Given the description of an element on the screen output the (x, y) to click on. 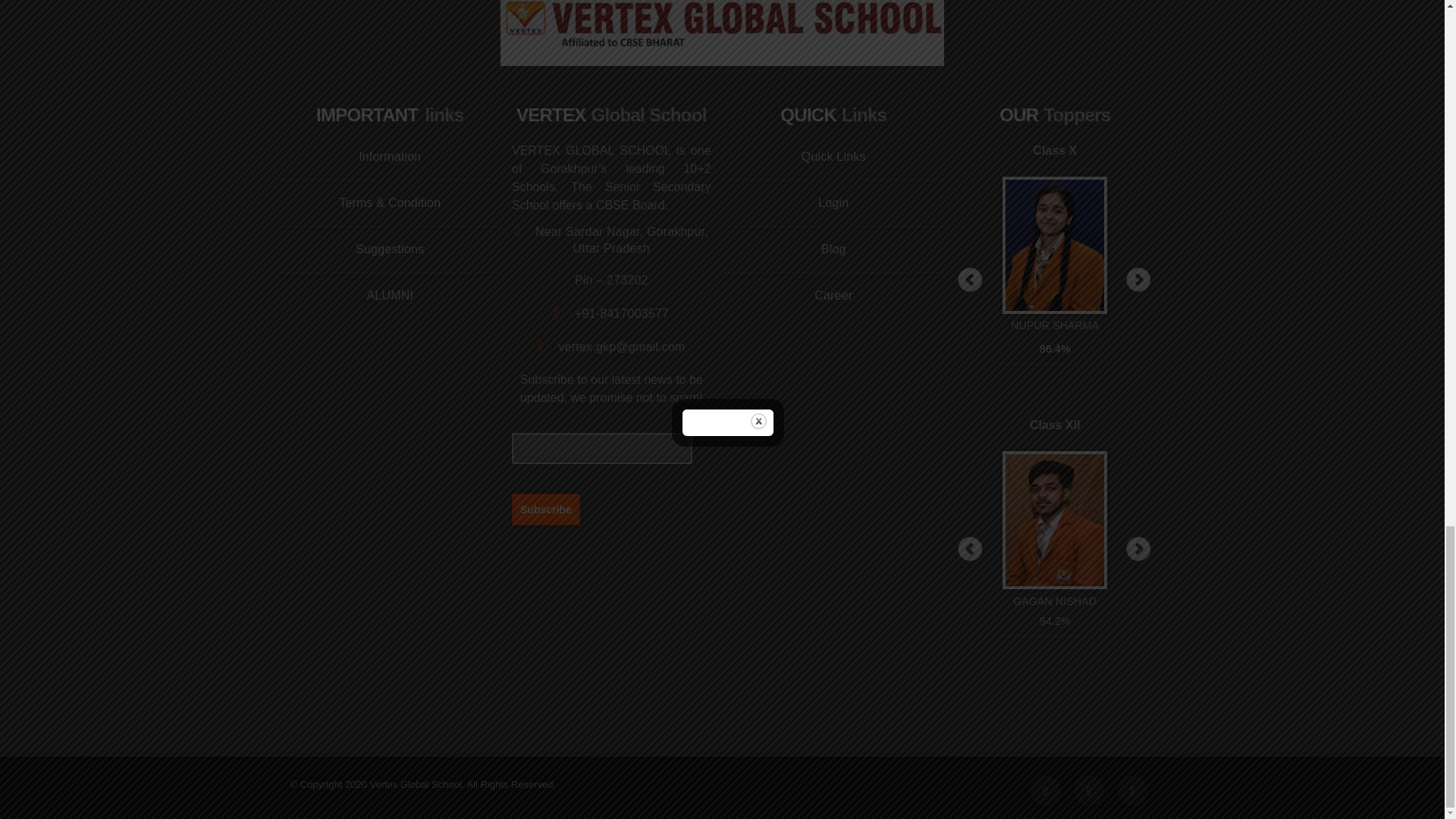
Subscribe (545, 508)
